Given the description of an element on the screen output the (x, y) to click on. 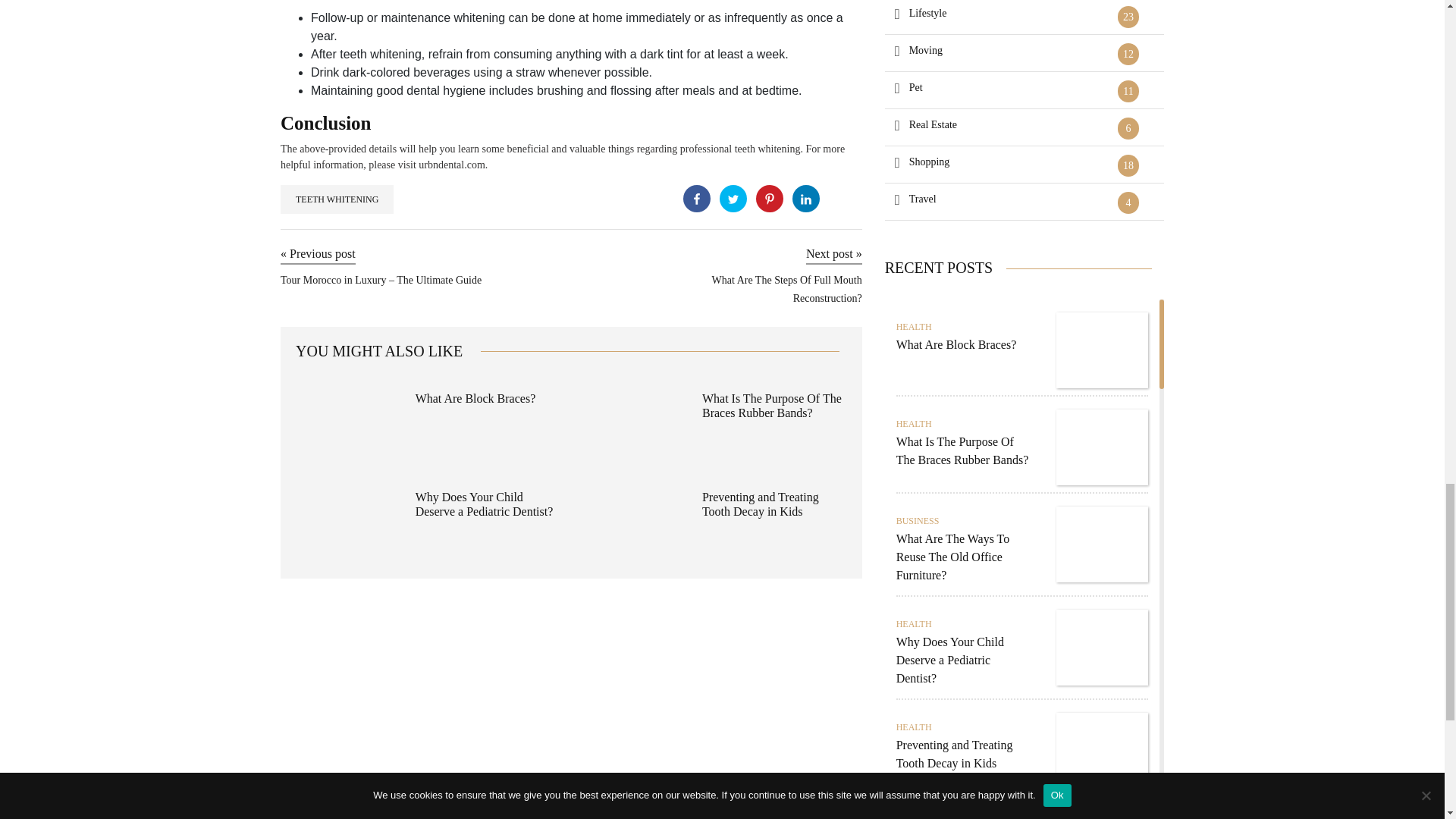
Share on LinkedIn (805, 198)
Teeth Whitening Tag (336, 199)
Share on Facebook (696, 198)
Share on Pinterest (769, 198)
Share on Twitter (732, 198)
